Given the description of an element on the screen output the (x, y) to click on. 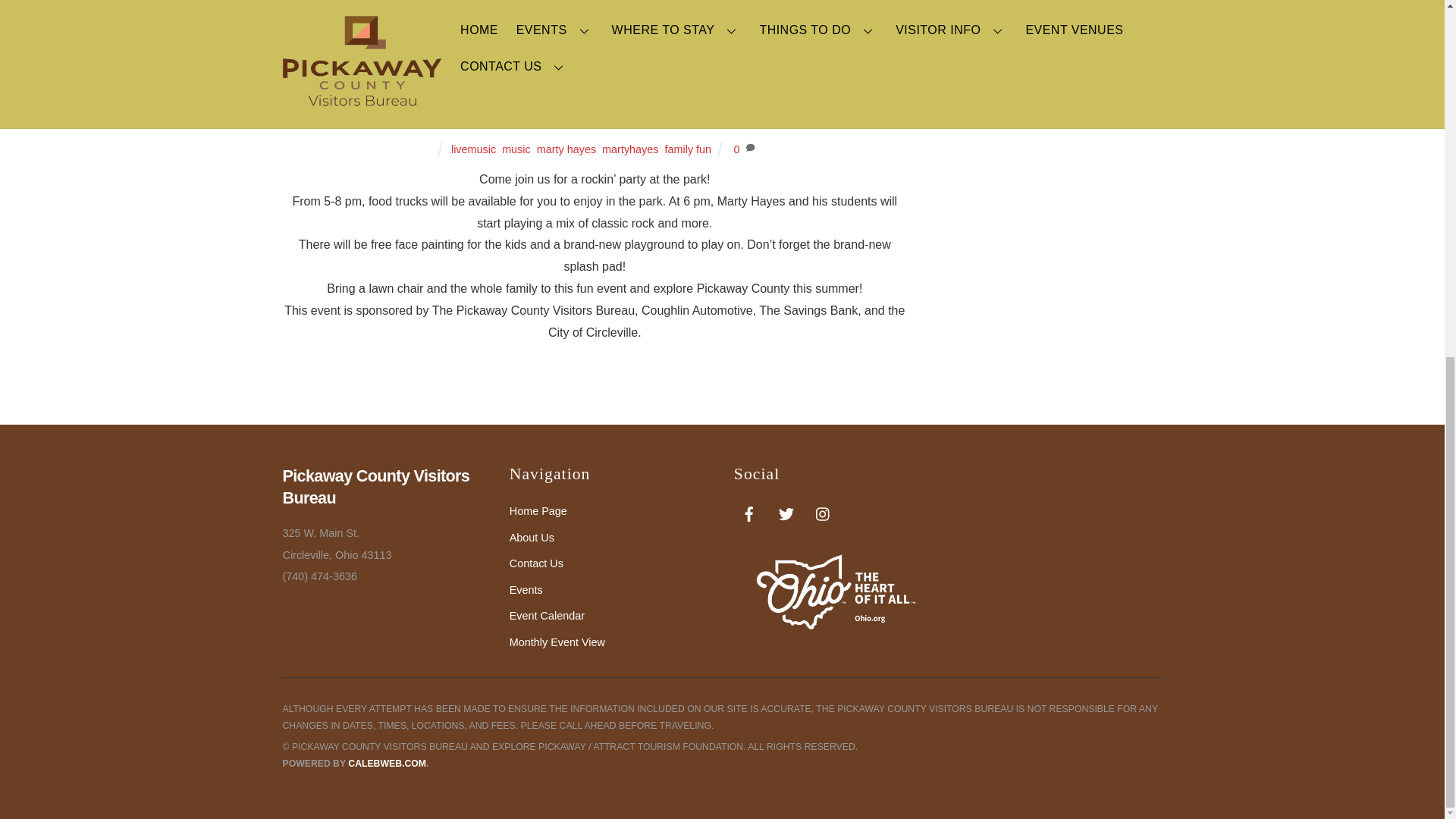
marty hayes (566, 148)
family fun (687, 148)
livemusic (473, 148)
music (516, 148)
martyhayes (630, 148)
Pickaway County Visitors Bureau (375, 486)
Second Sunday Music Series: Marty Hayes and X-Perience Music (594, 87)
